Given the description of an element on the screen output the (x, y) to click on. 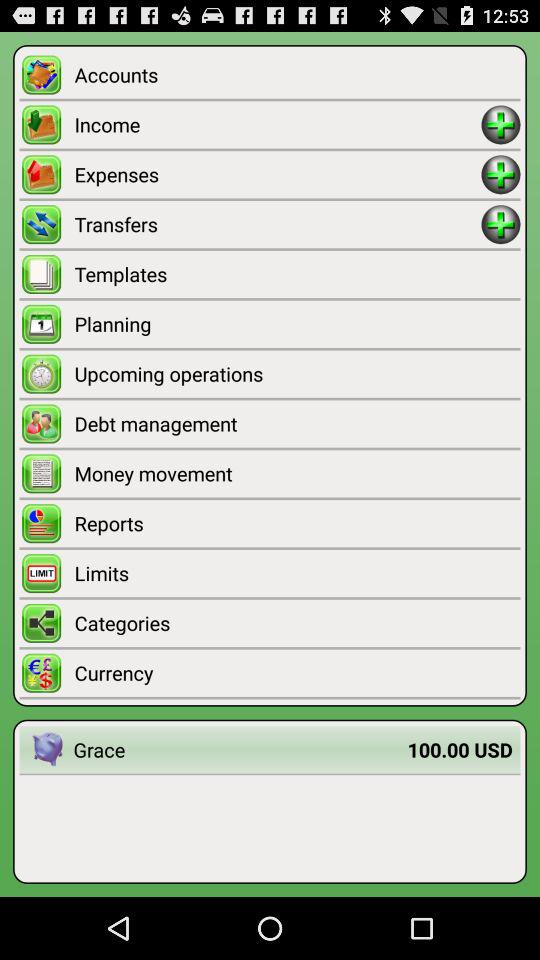
scroll until the limits icon (297, 572)
